Given the description of an element on the screen output the (x, y) to click on. 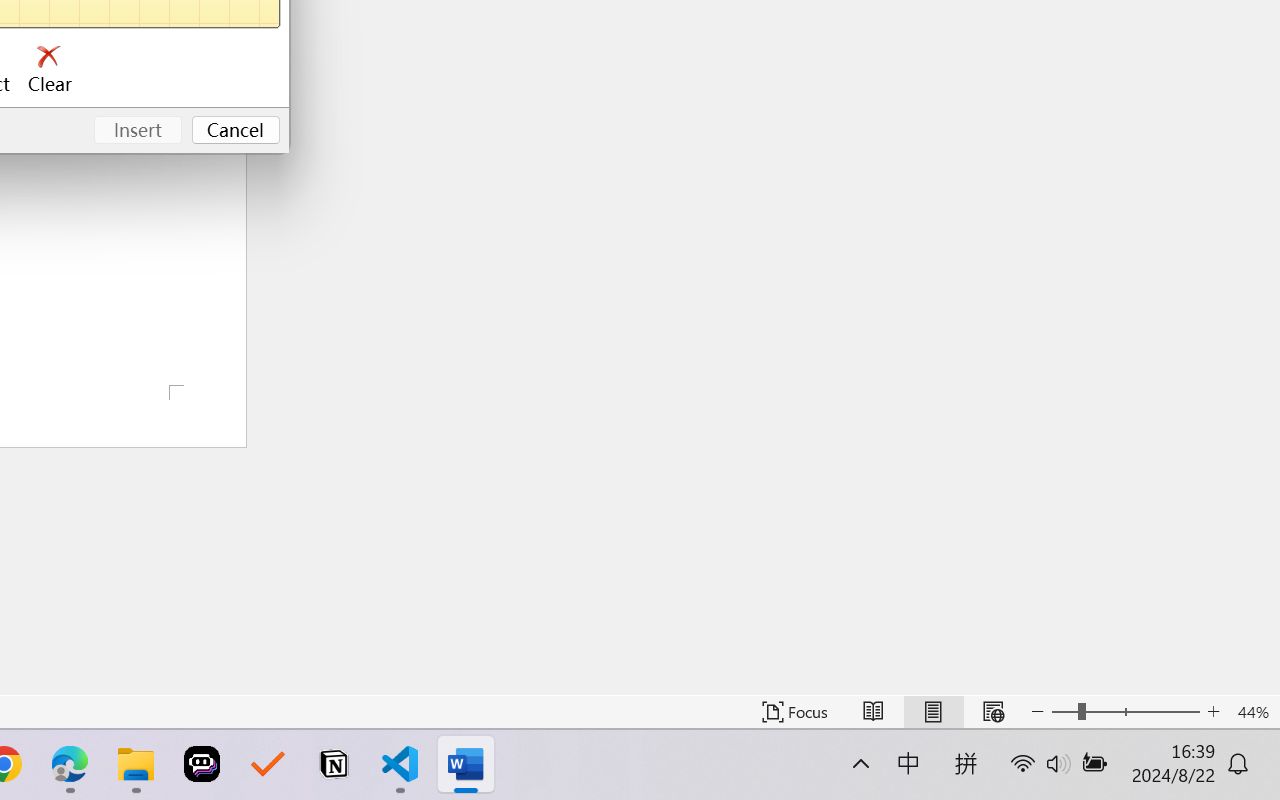
Poe (201, 764)
Clear (49, 69)
Notion (333, 764)
